Given the description of an element on the screen output the (x, y) to click on. 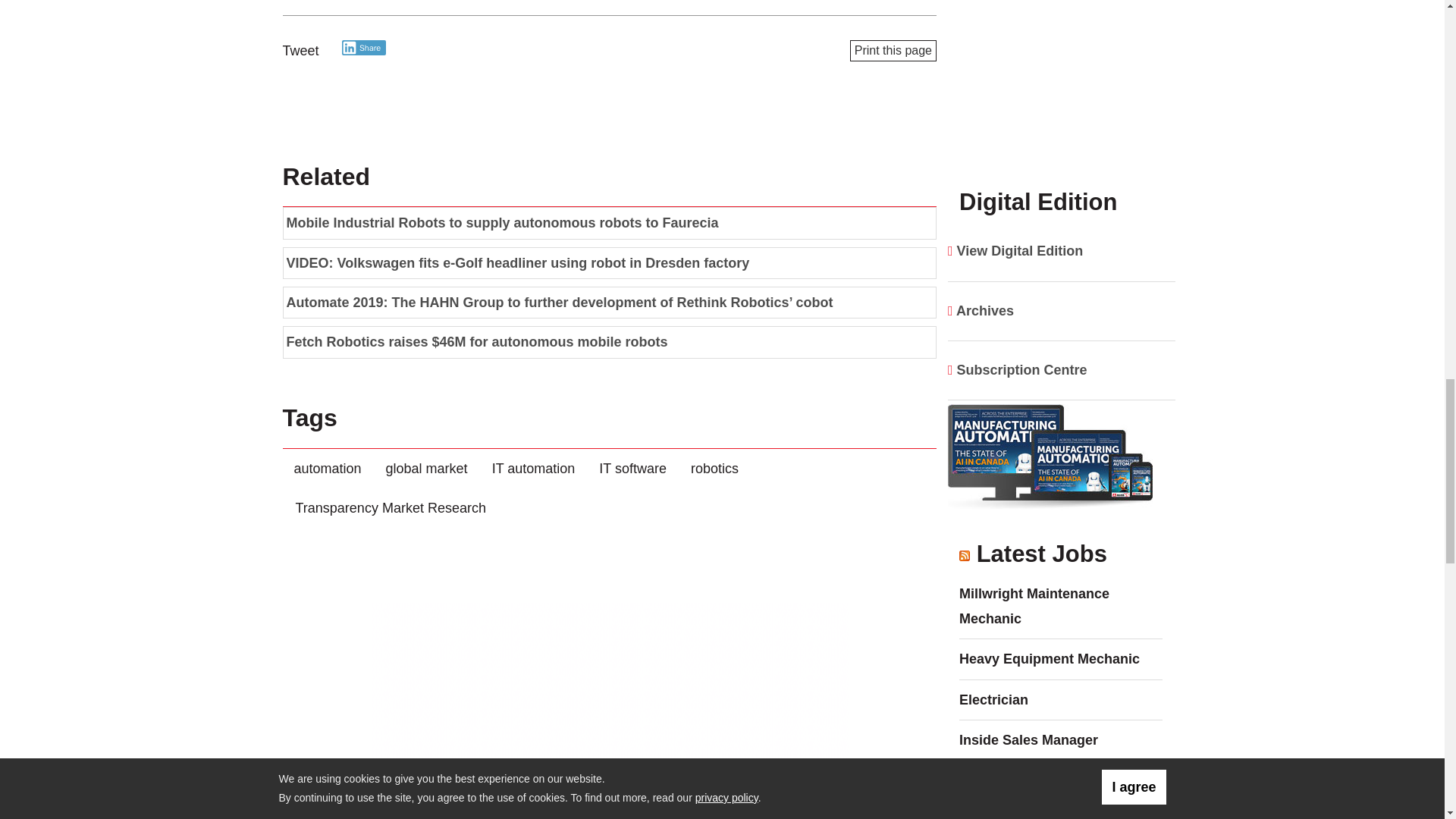
3rd party ad content (1060, 68)
3rd party ad content (609, 696)
